Given the description of an element on the screen output the (x, y) to click on. 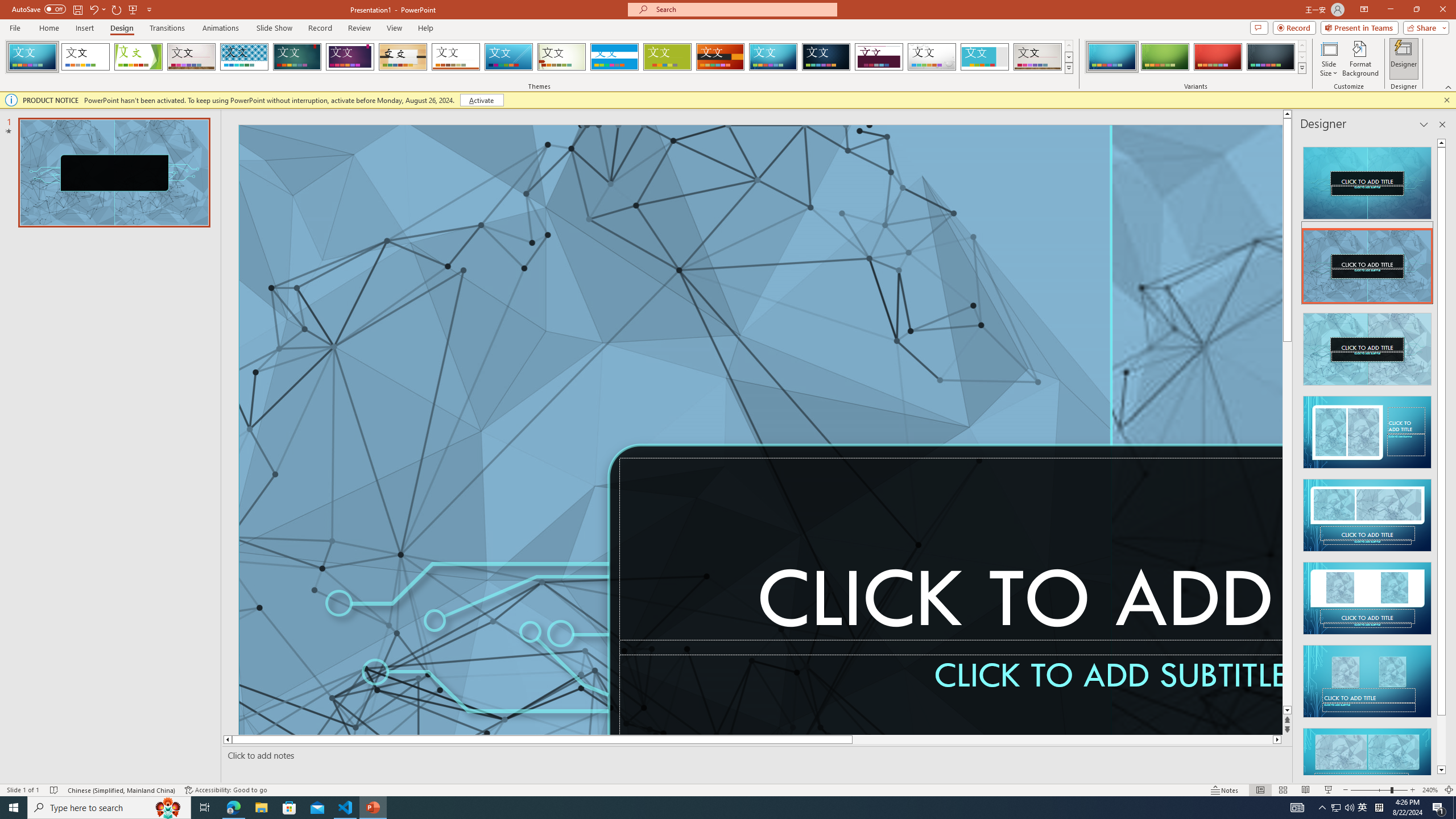
Circuit (772, 56)
Close this message (1446, 99)
Banded (614, 56)
Slice (508, 56)
